Given the description of an element on the screen output the (x, y) to click on. 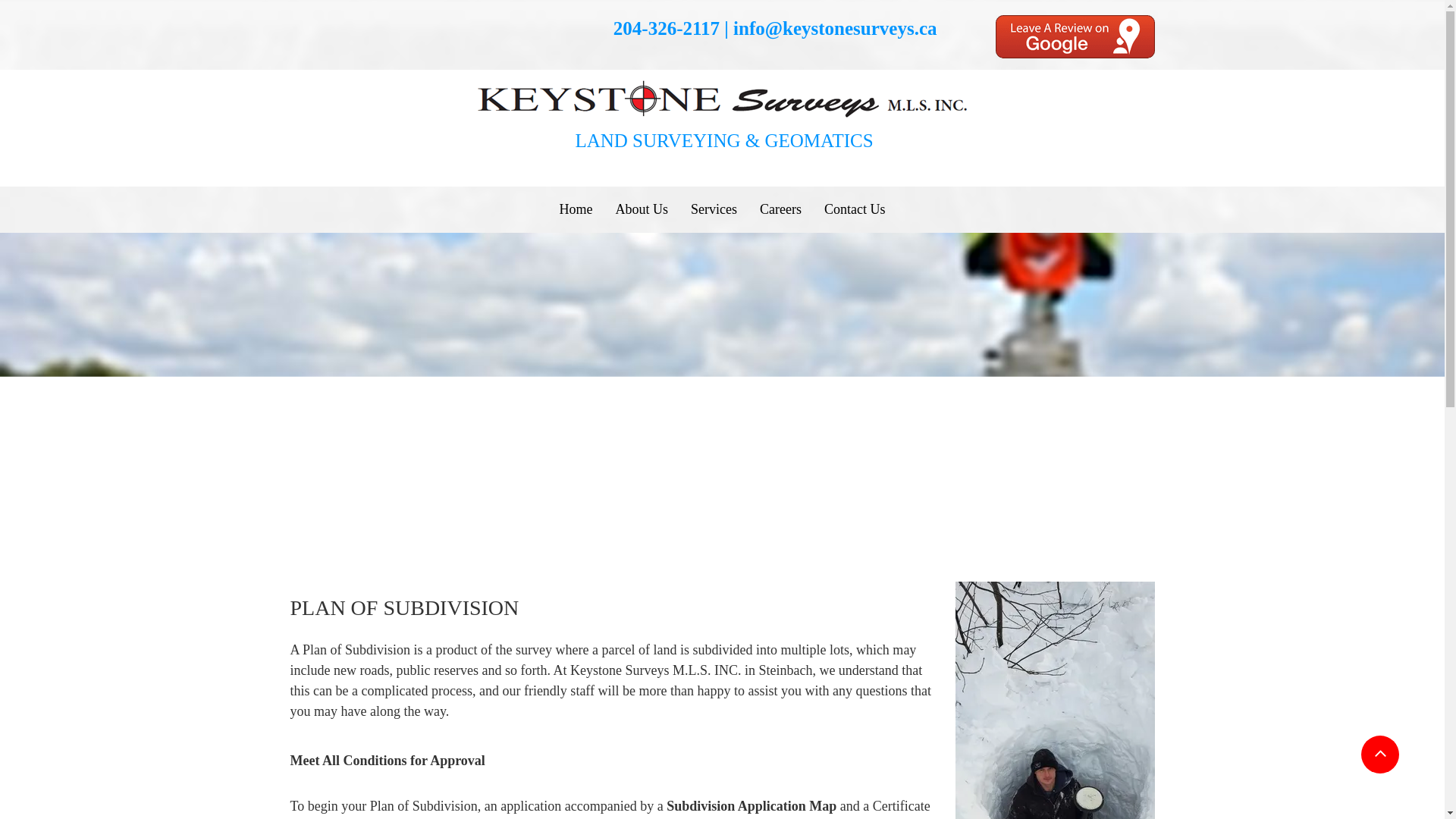
Careers (780, 209)
Contact Us (854, 209)
Home (576, 209)
204-326-2117 (665, 28)
About Us (641, 209)
